Given the description of an element on the screen output the (x, y) to click on. 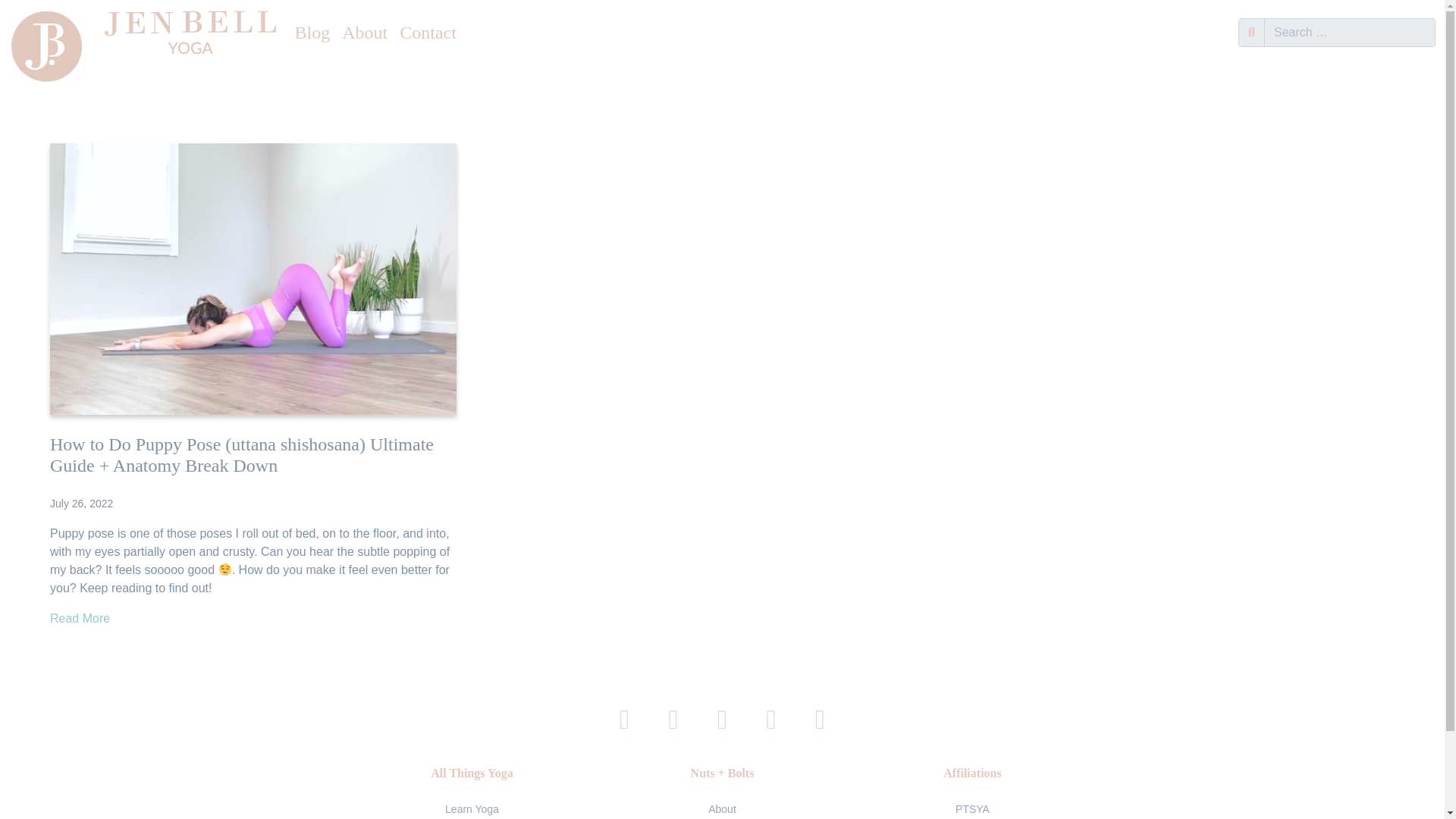
Contact (428, 32)
Search for: (1349, 32)
About (721, 808)
Learn Yoga (472, 808)
About (364, 32)
Blog (312, 32)
PTSYA (972, 808)
Read More (79, 617)
